Given the description of an element on the screen output the (x, y) to click on. 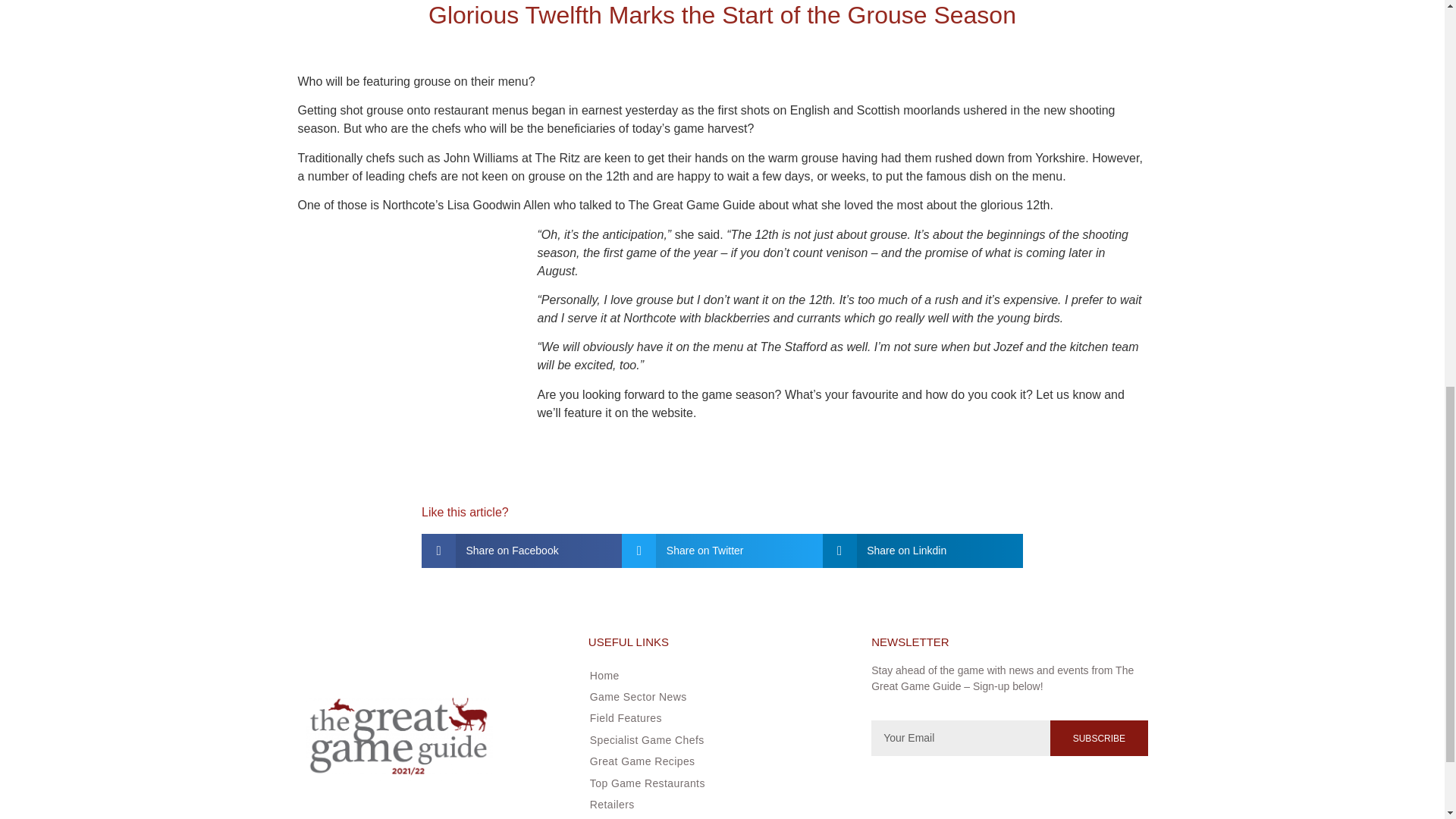
Home (715, 675)
Game Sector News (715, 696)
